Given the description of an element on the screen output the (x, y) to click on. 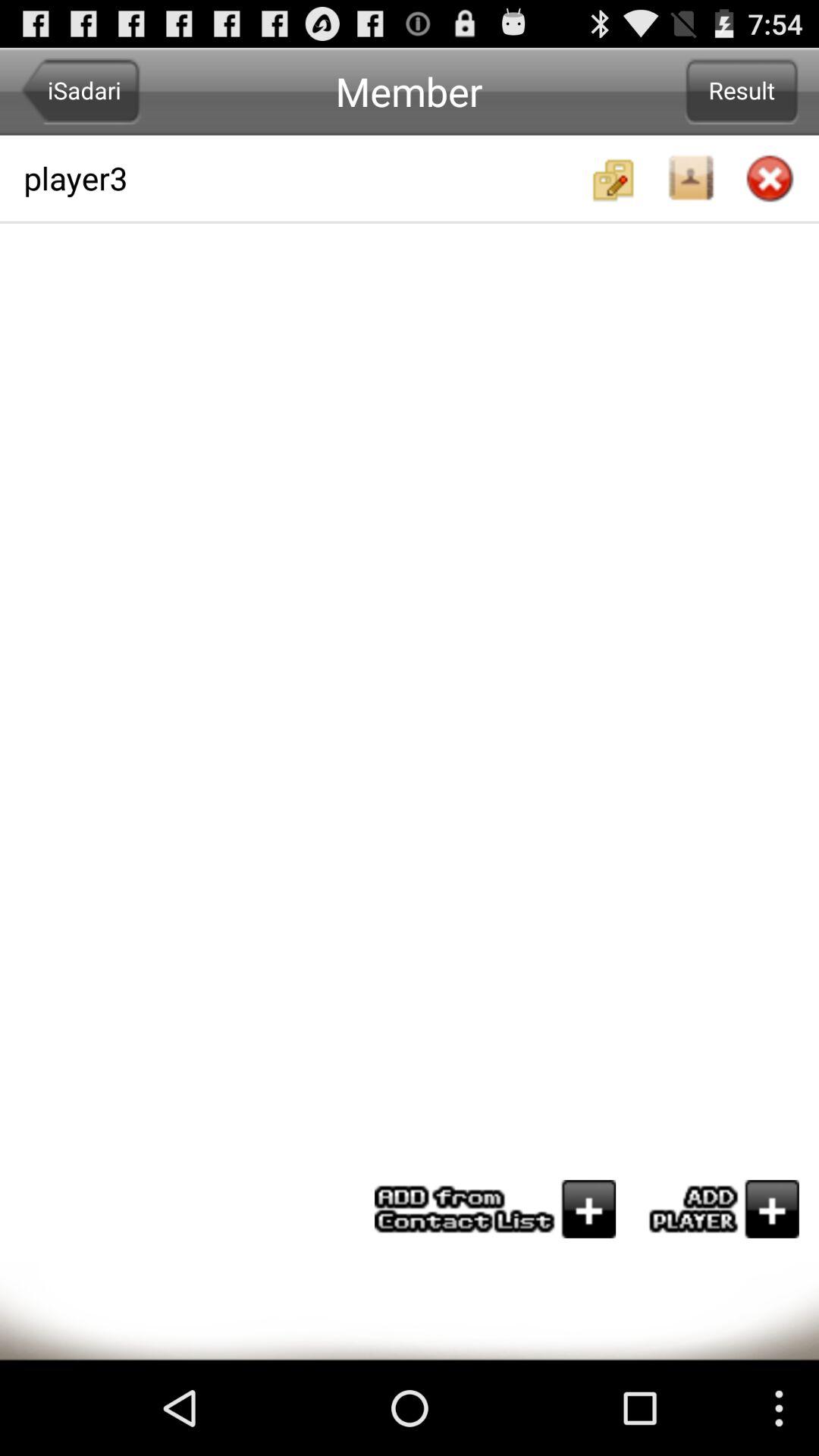
click icon next to the player3 app (741, 91)
